Given the description of an element on the screen output the (x, y) to click on. 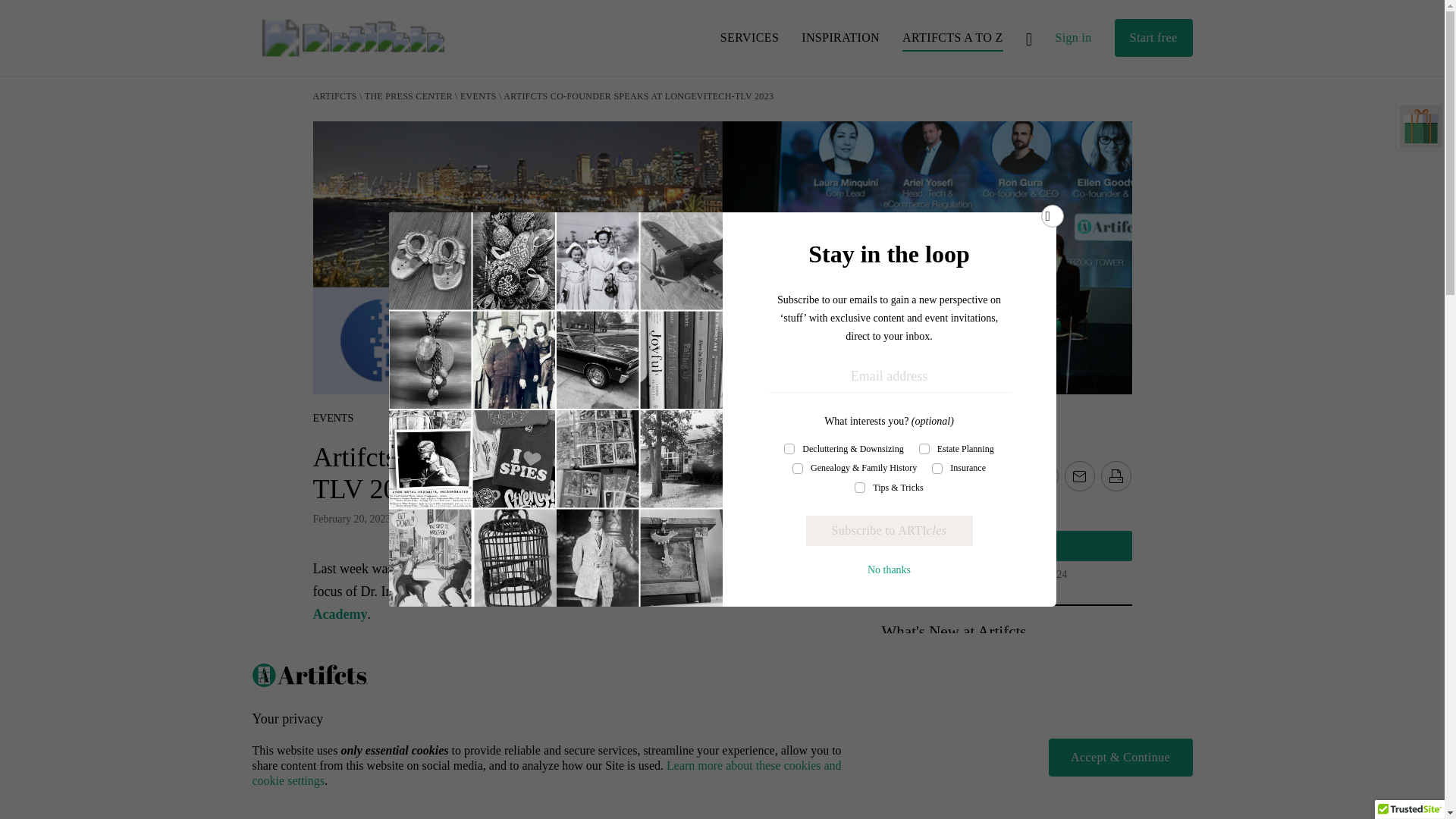
Sign in (1072, 37)
Start free (1153, 37)
THE PRESS CENTER (408, 95)
EVENTS (333, 418)
Fintech for Longevity Academy (543, 602)
EVENTS (479, 95)
LongeviTech-TLV 2023 (380, 667)
ARTIFCTS (334, 95)
Fintech for Longevity Academy (543, 602)
